Given the description of an element on the screen output the (x, y) to click on. 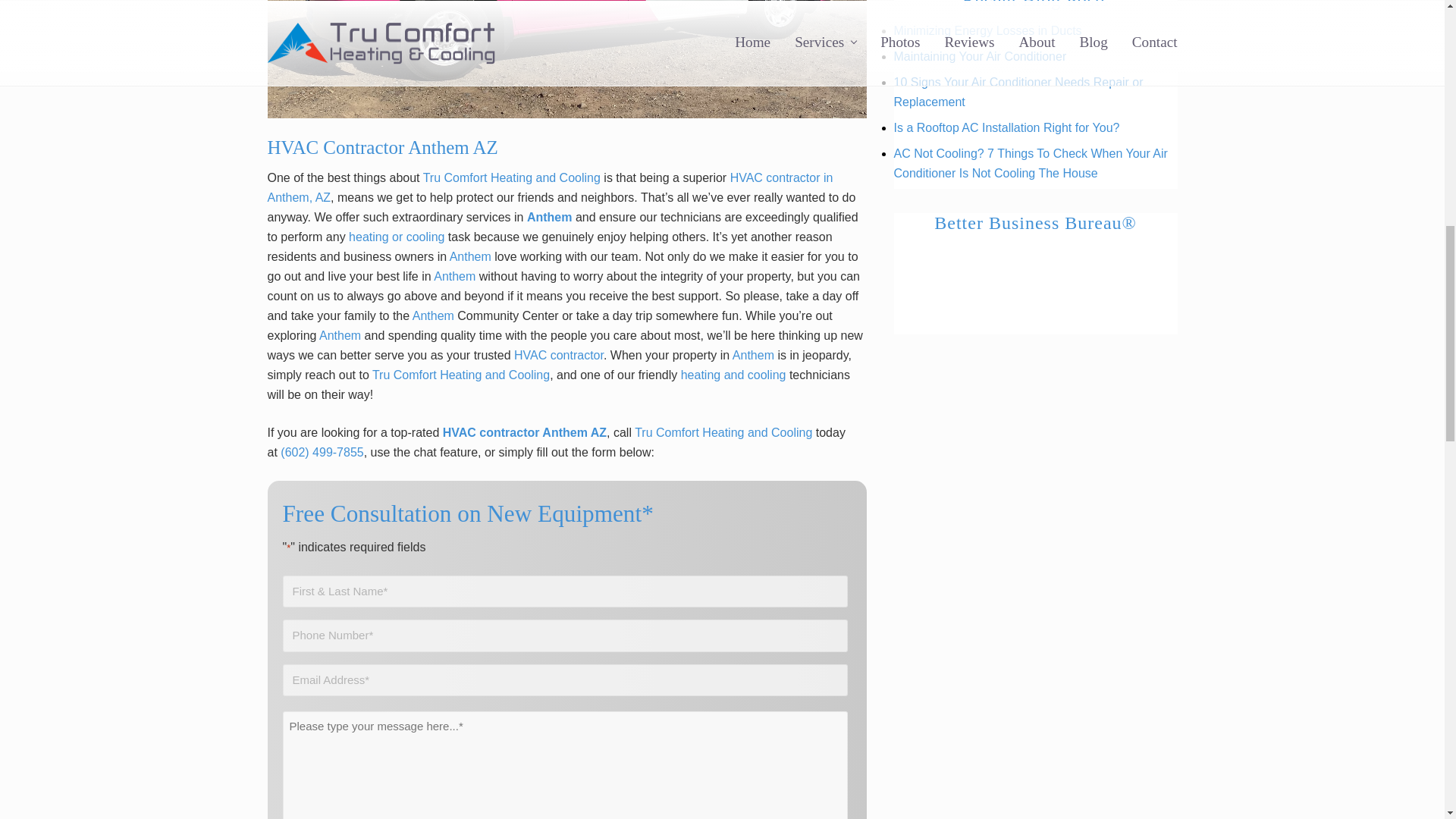
HVAC Contractor Anthem AZ (566, 58)
